Given the description of an element on the screen output the (x, y) to click on. 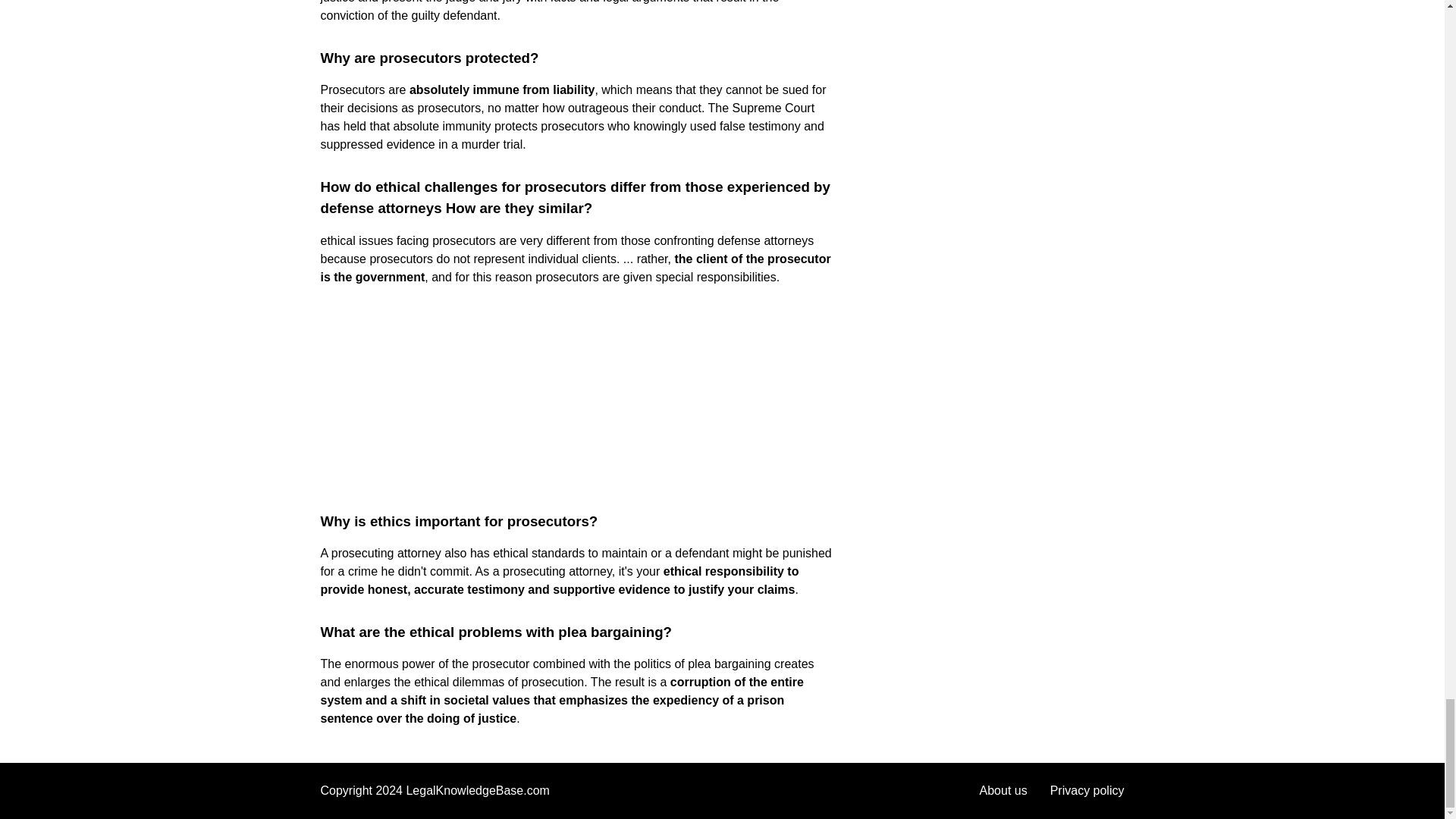
About us (1003, 790)
Privacy policy (1086, 790)
